Given the description of an element on the screen output the (x, y) to click on. 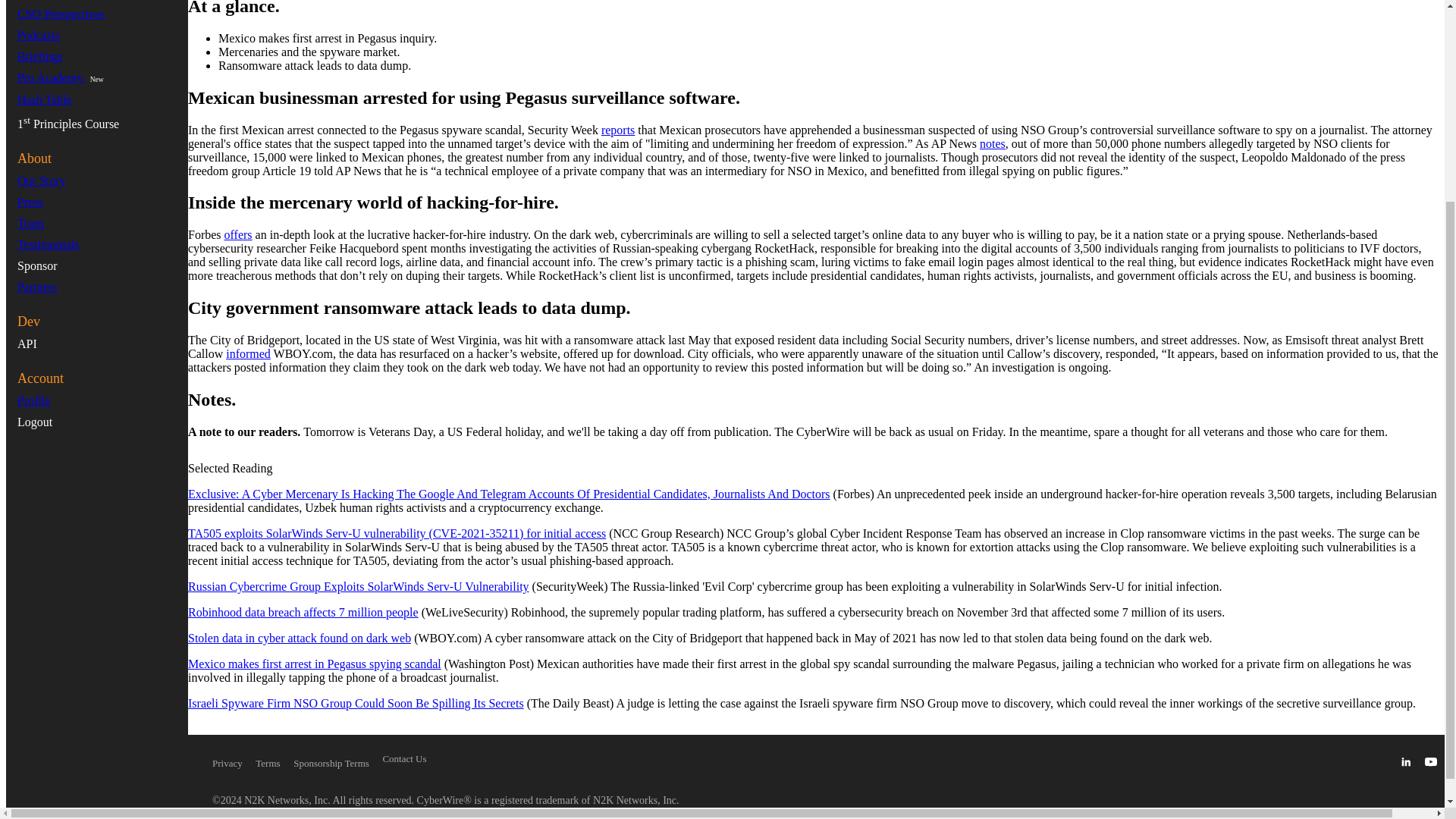
Testimonials (48, 244)
Partners (36, 286)
Briefings (39, 56)
Our Story (41, 180)
Profile (33, 400)
Press (30, 201)
1st Principles Course (68, 123)
CSO Perspectives (60, 13)
Team (30, 223)
Hash Table (44, 99)
